Given the description of an element on the screen output the (x, y) to click on. 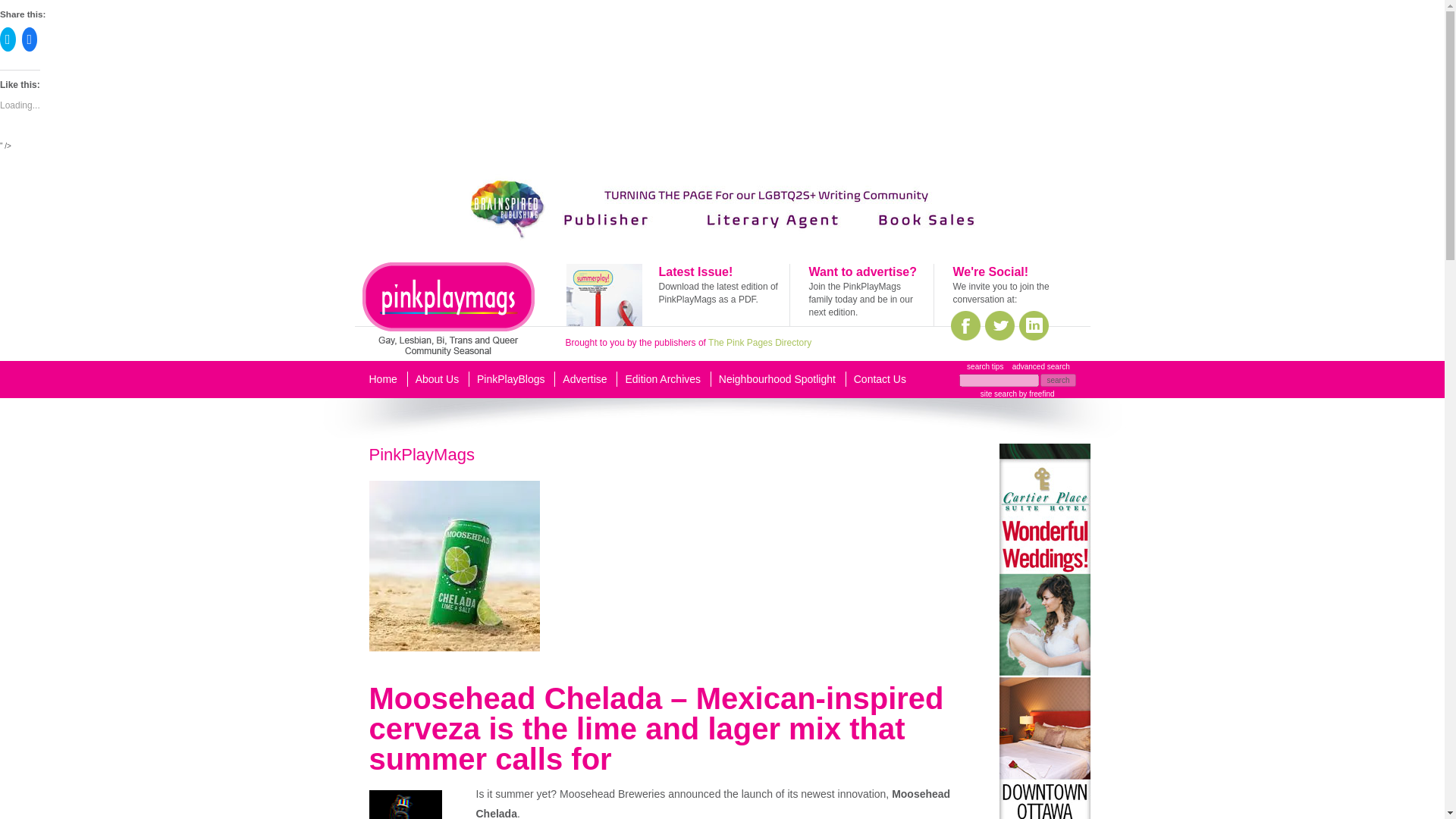
Contact Us (879, 378)
search (1058, 379)
The Pink Pages Directory (758, 342)
Advertise (584, 378)
PinkPlayBlogs (510, 378)
site search (997, 393)
search (1058, 379)
Download the latest edition of PinkPlayMags as a PDF. (717, 292)
Neighbourhood Spotlight (777, 378)
